Given the description of an element on the screen output the (x, y) to click on. 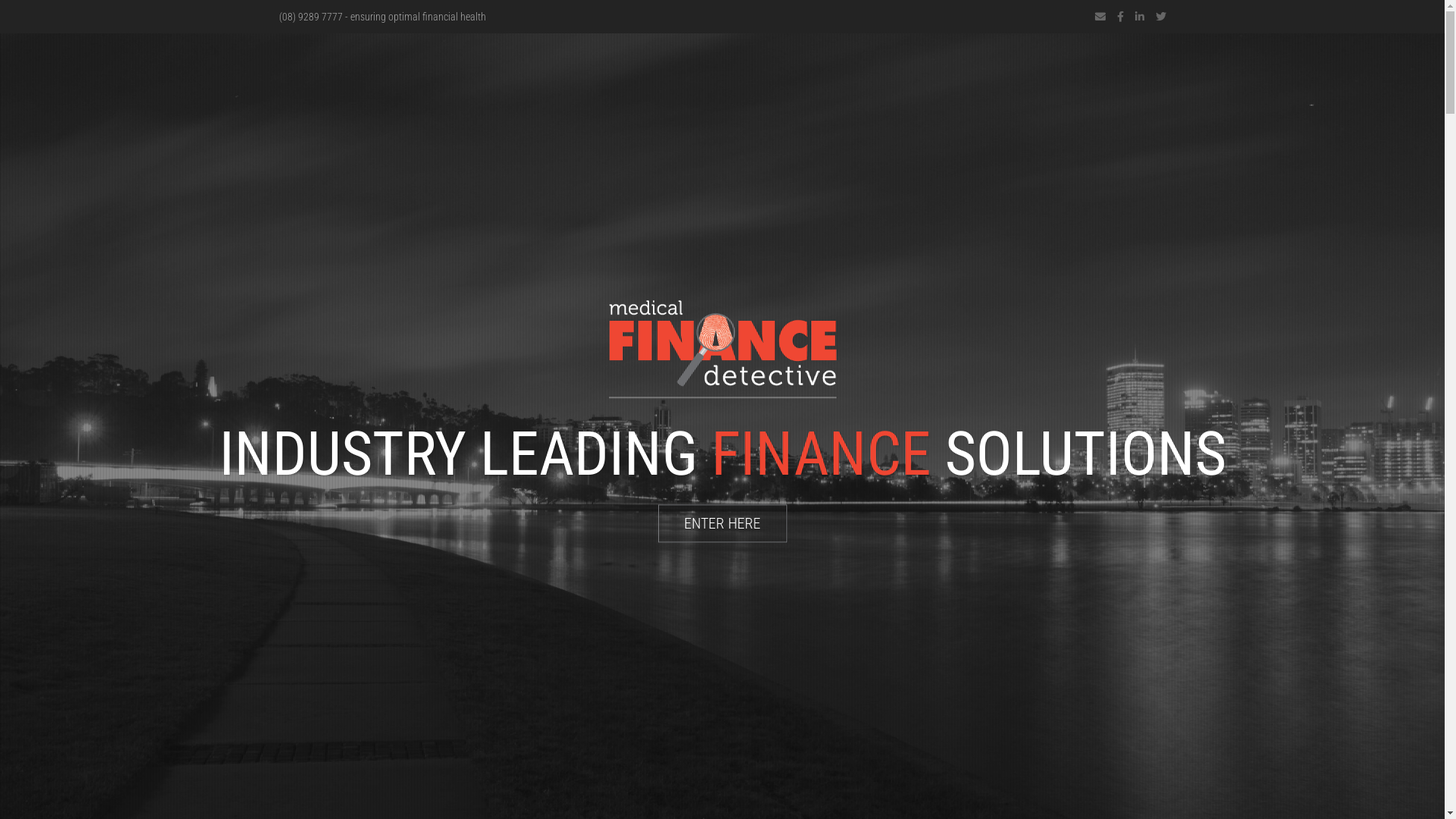
ENTER HERE Element type: text (722, 523)
